Given the description of an element on the screen output the (x, y) to click on. 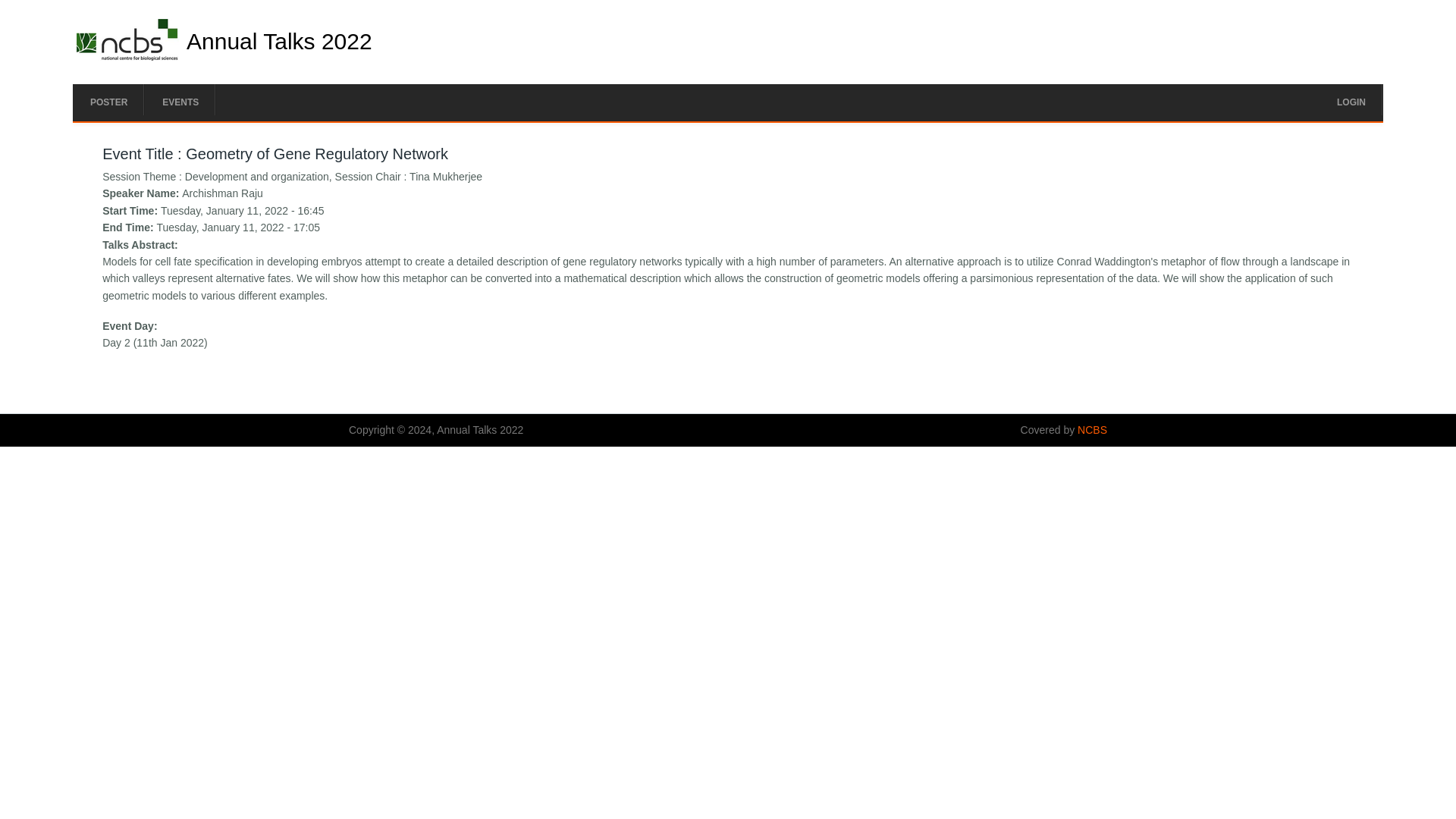
POSTER (108, 102)
NCBS (1091, 429)
LOGIN (1351, 102)
Home (128, 56)
EVENTS (179, 102)
Annual Talks 2022 (279, 41)
Home (279, 41)
